Given the description of an element on the screen output the (x, y) to click on. 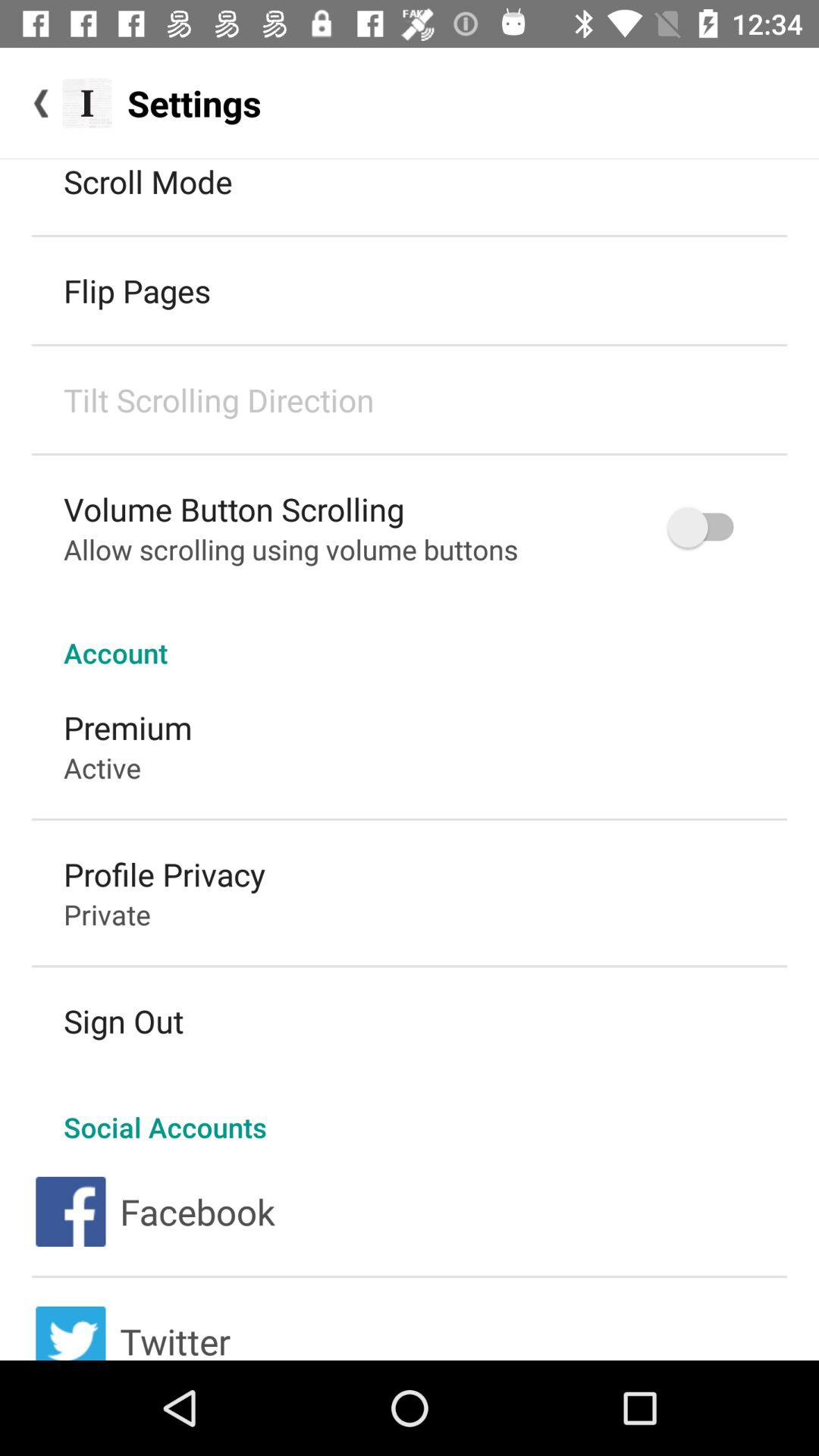
jump to active item (102, 767)
